Given the description of an element on the screen output the (x, y) to click on. 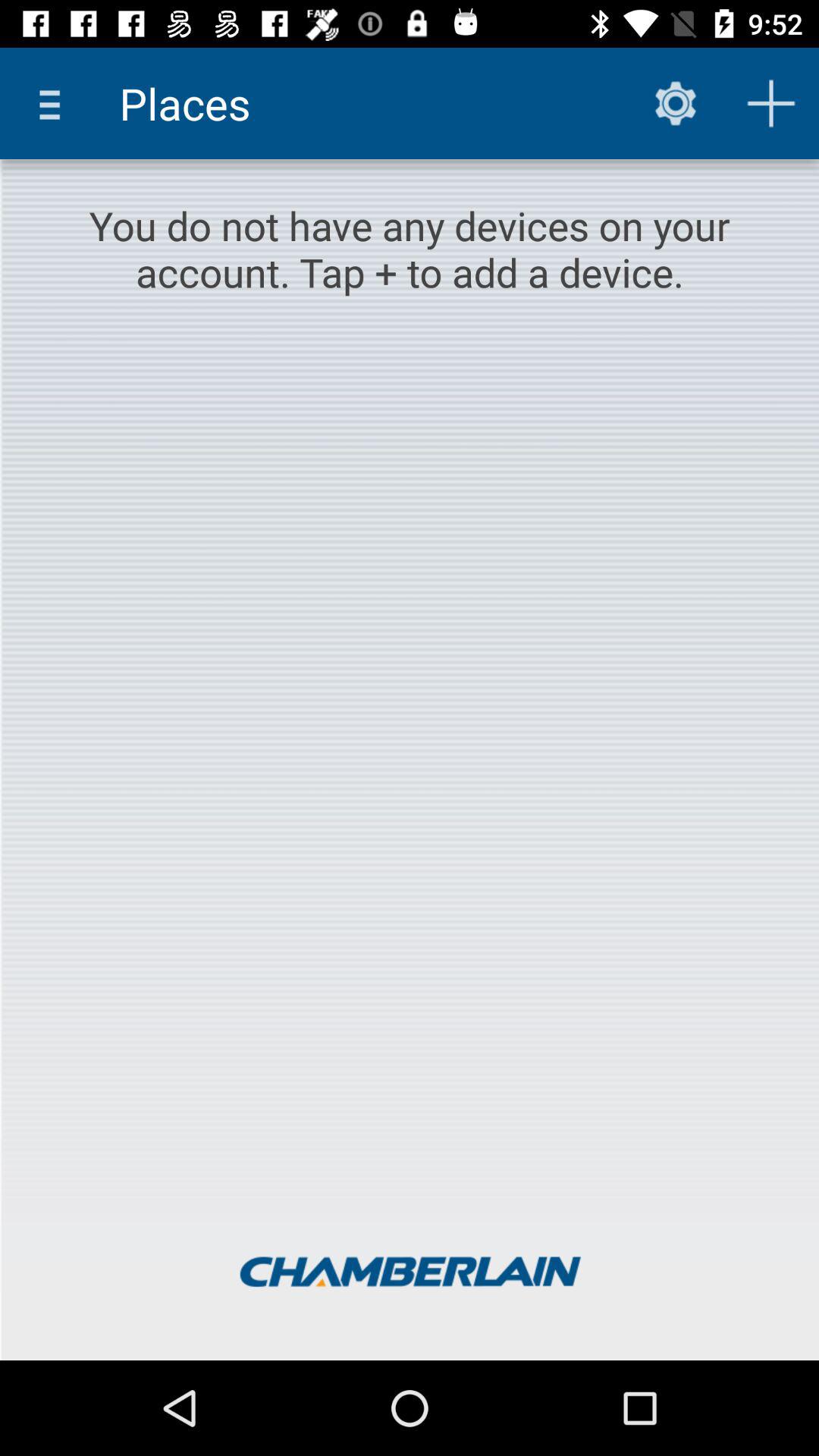
choose item above the you do not item (55, 103)
